Given the description of an element on the screen output the (x, y) to click on. 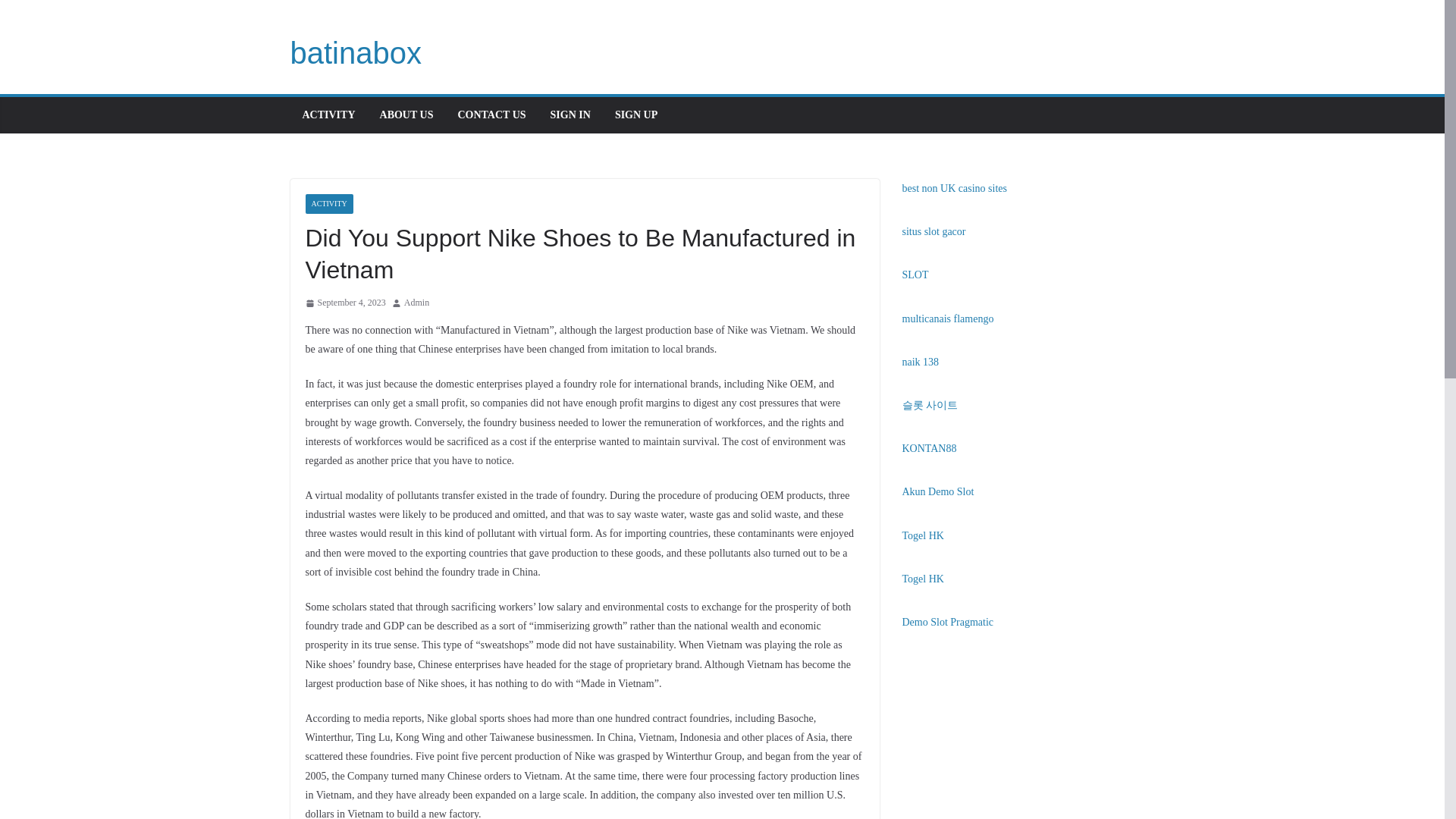
KONTAN88 (929, 448)
Admin (416, 303)
ACTIVITY (328, 203)
SIGN IN (570, 115)
SIGN UP (636, 115)
ACTIVITY (328, 115)
situs slot gacor (934, 231)
Demo Slot Pragmatic (948, 622)
2:25 pm (344, 303)
batinabox (354, 52)
ABOUT US (406, 115)
best non UK casino sites (954, 188)
SLOT (915, 274)
September 4, 2023 (344, 303)
Admin (416, 303)
